Given the description of an element on the screen output the (x, y) to click on. 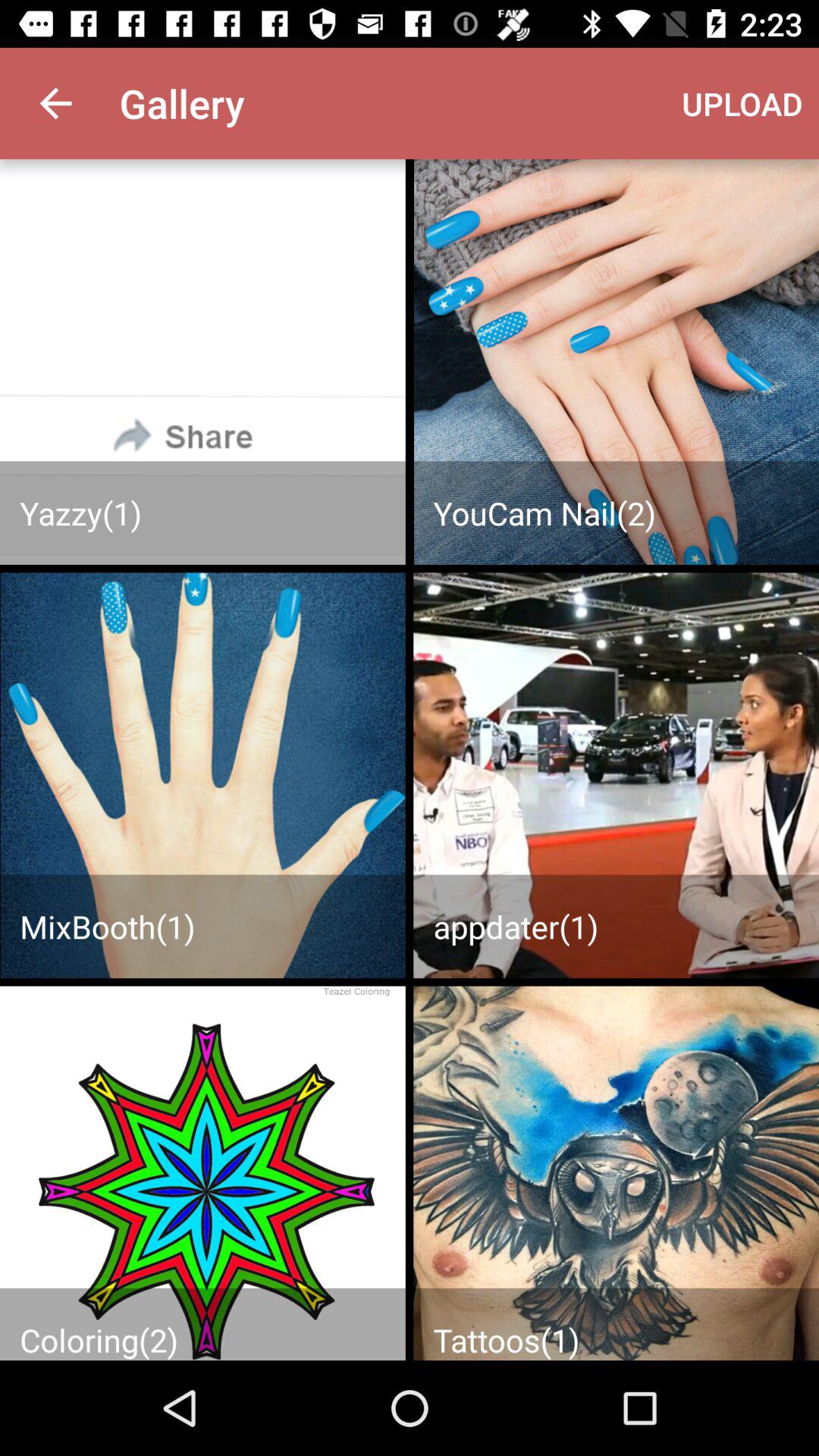
go to previous (202, 361)
